Given the description of an element on the screen output the (x, y) to click on. 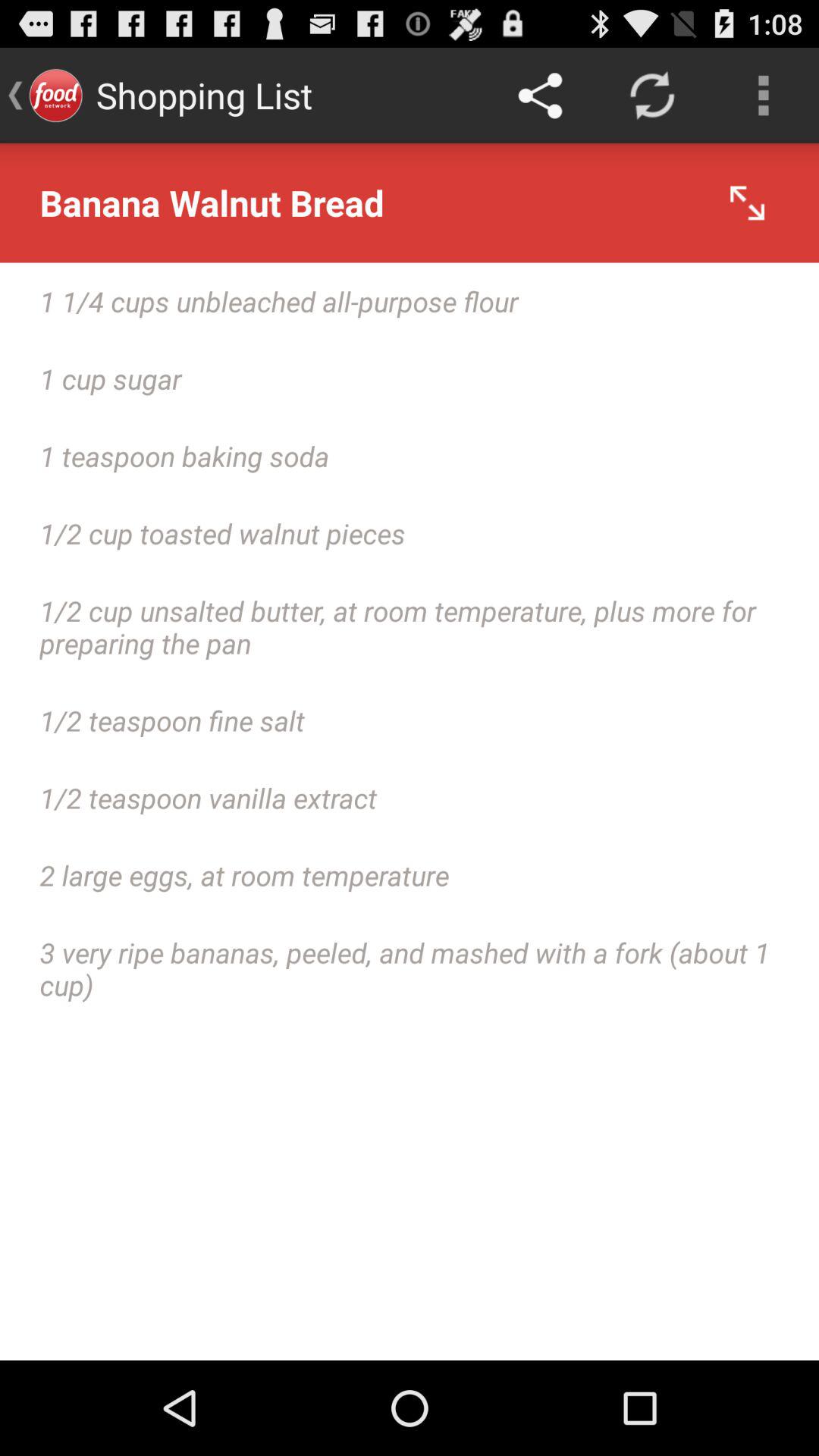
tap icon above the 1 1 4 icon (409, 202)
